Given the description of an element on the screen output the (x, y) to click on. 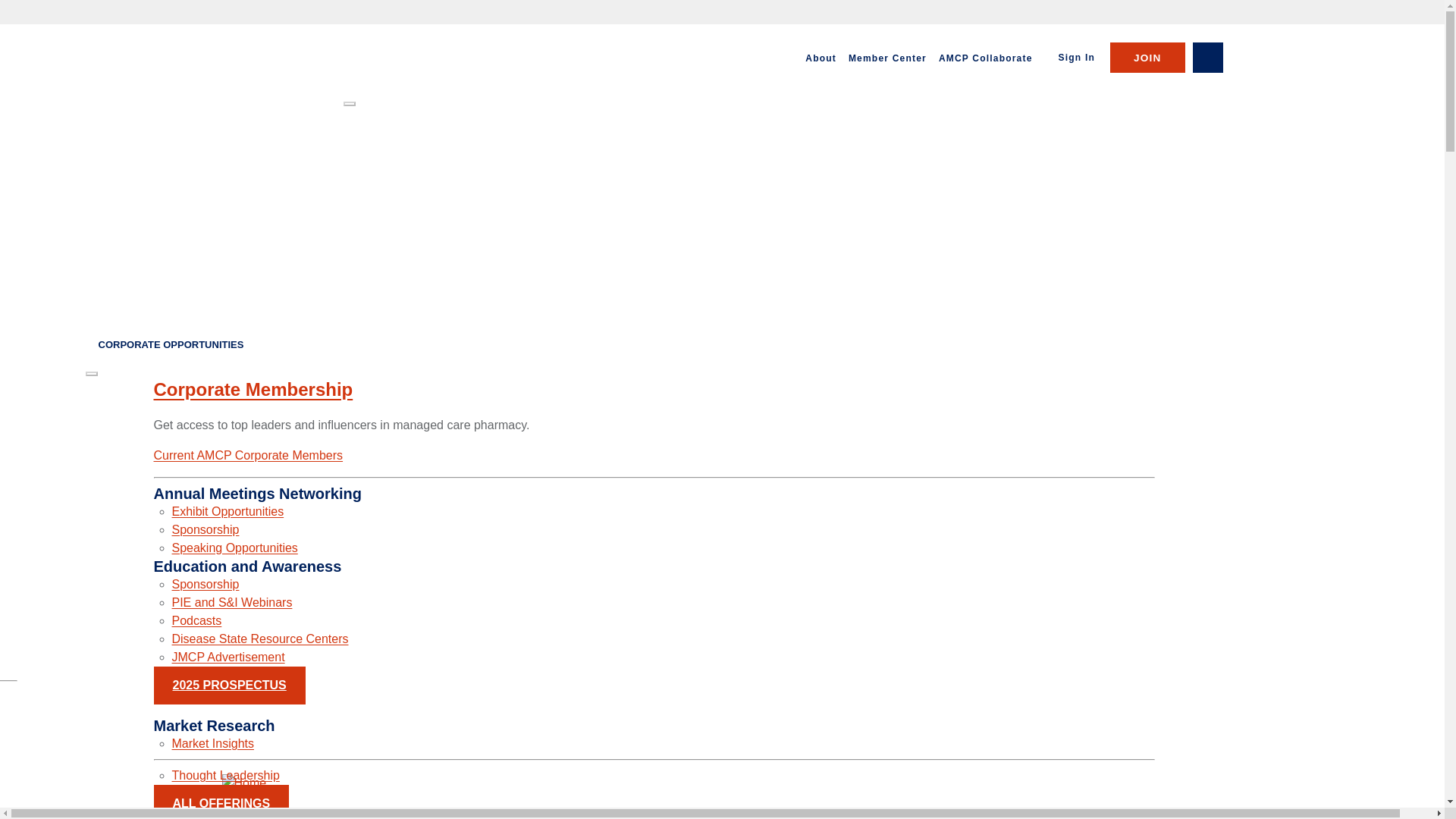
Sign In (1076, 57)
AMCP Collaborate (985, 58)
Sign In (1076, 57)
Search (1207, 57)
Member Center (887, 58)
About (821, 58)
Go to the search page (1207, 57)
JOIN (1147, 57)
